Given the description of an element on the screen output the (x, y) to click on. 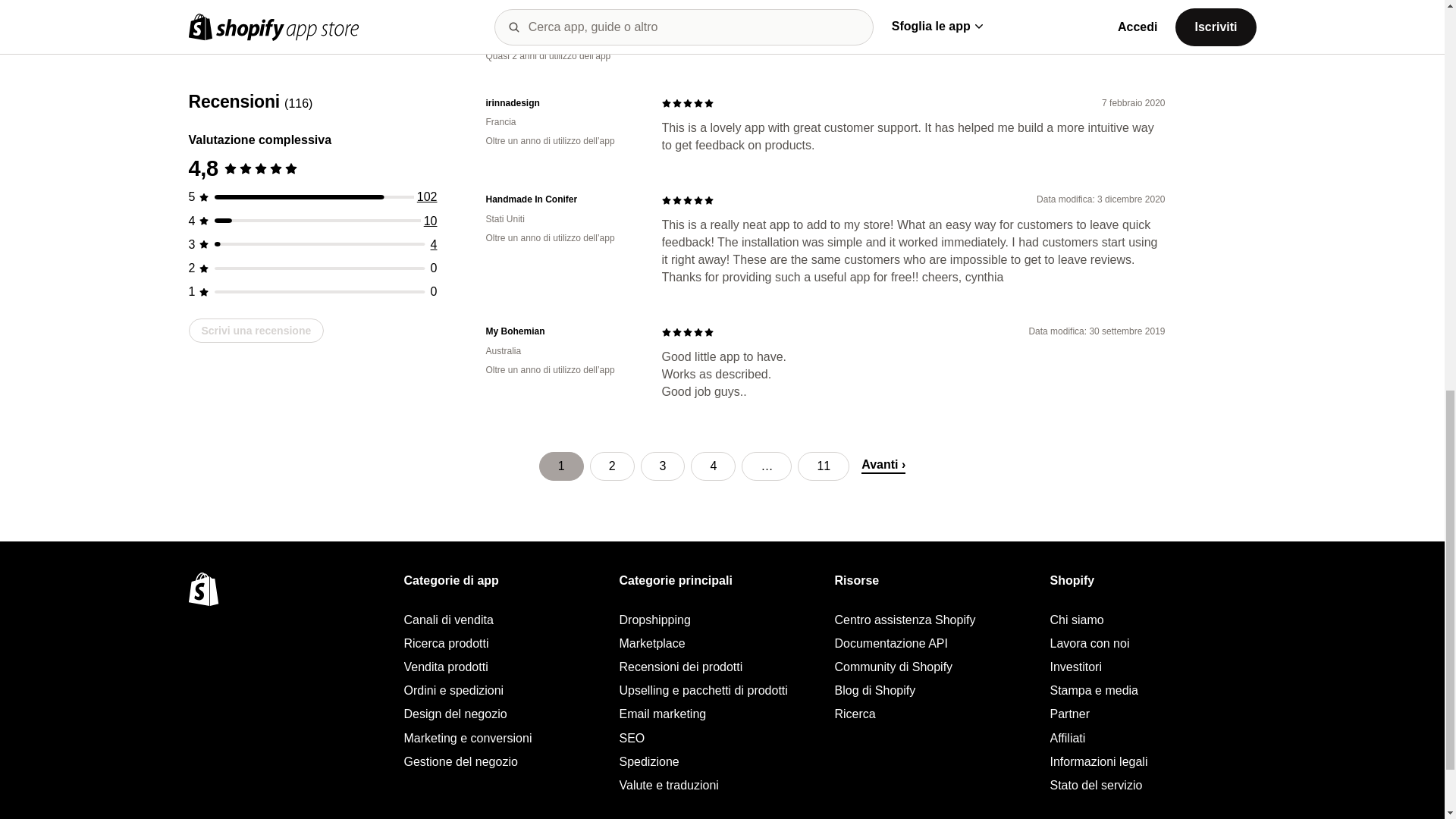
irinnadesign (560, 103)
Handmade In Conifer (560, 199)
Styler Comb (560, 17)
My Bohemian (560, 331)
